Given the description of an element on the screen output the (x, y) to click on. 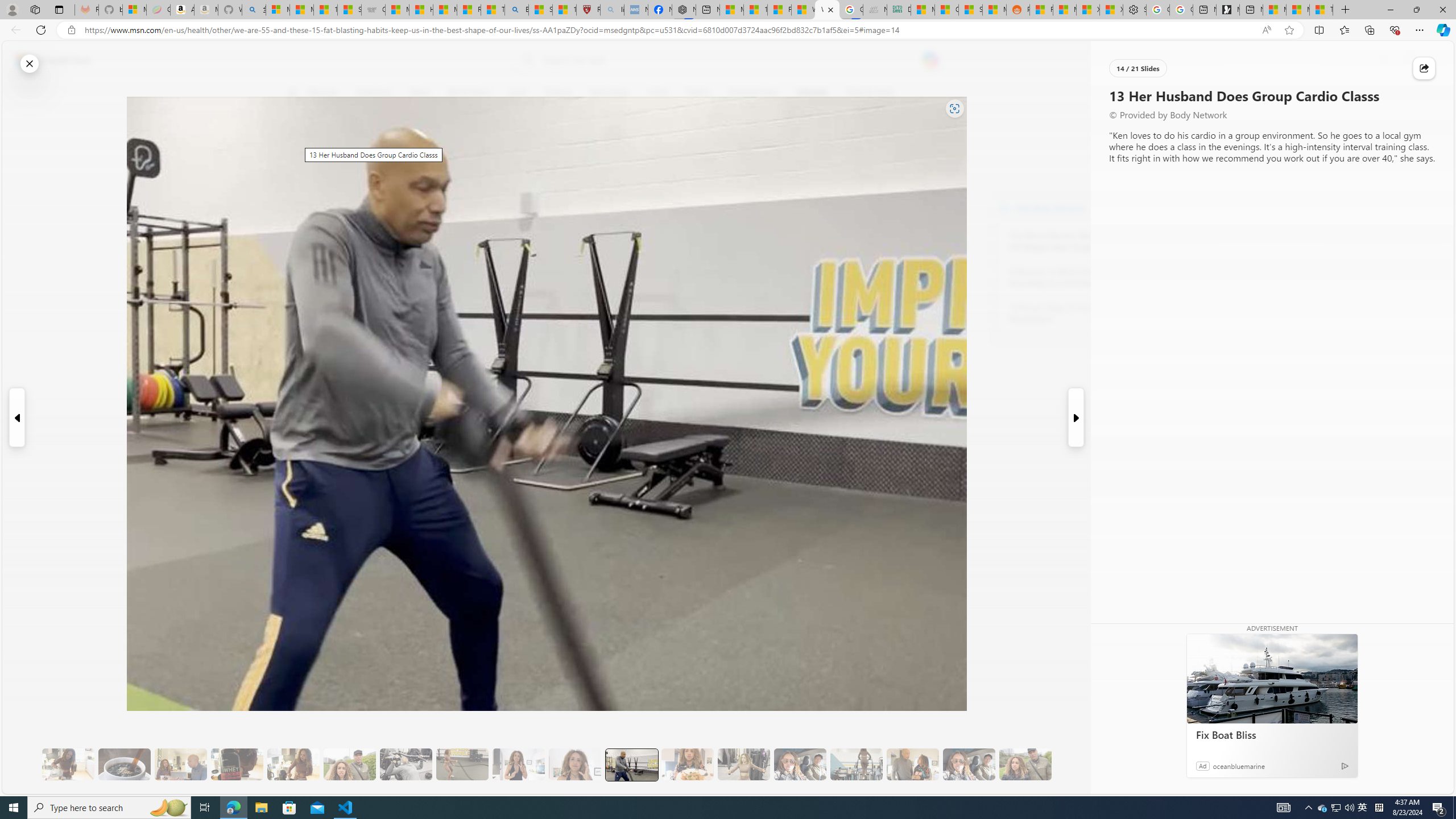
11 They Eat More Protein for Breakfast (518, 764)
11 They Eat More Protein for Breakfast (518, 764)
Next Slide (1076, 417)
10 Then, They Do HIIT Cardio (462, 764)
12 Proven Ways To Increase Your Metabolism (1071, 313)
Previous Slide (16, 417)
Class: at-item immersive (1423, 68)
